Given the description of an element on the screen output the (x, y) to click on. 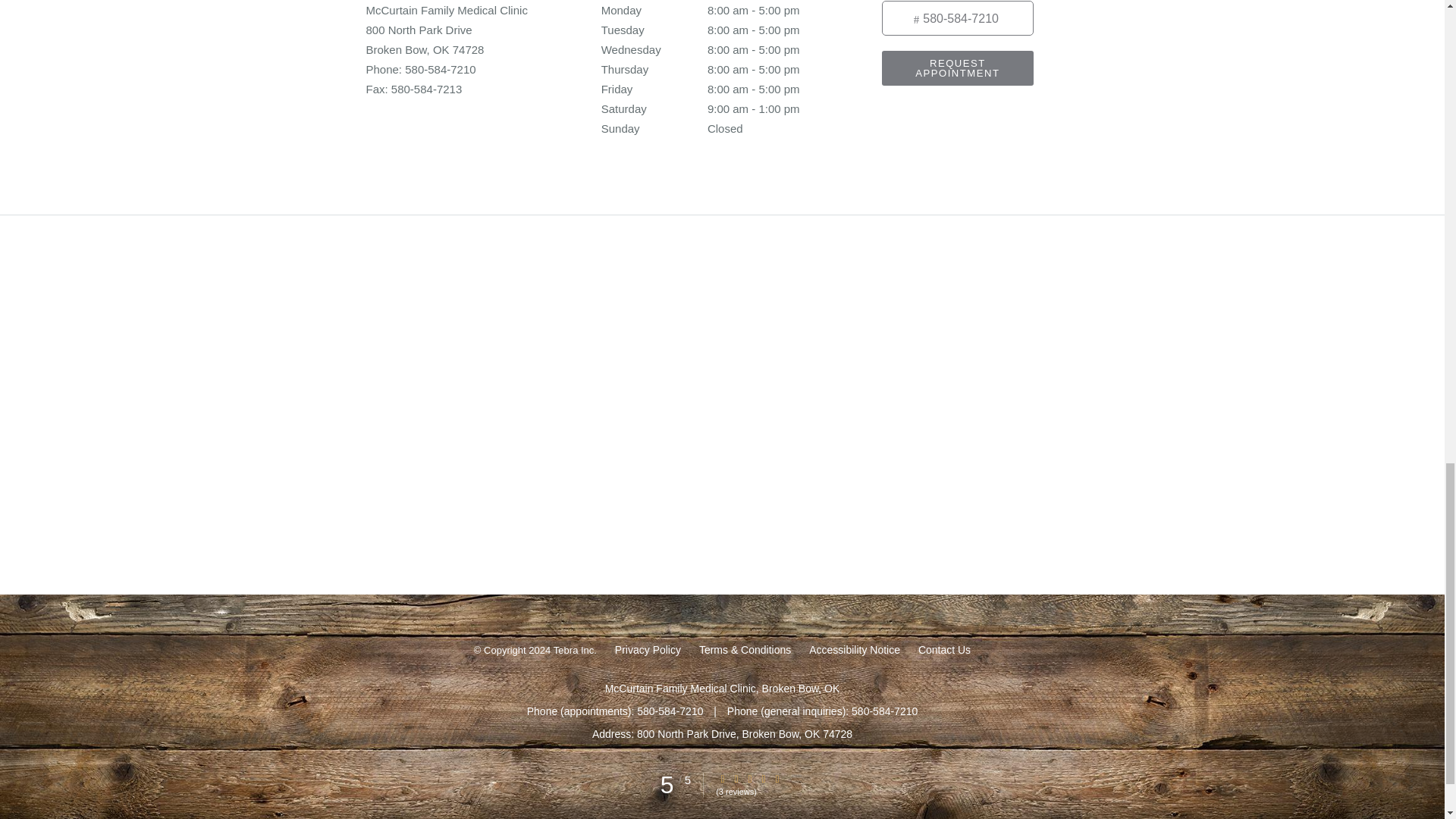
Star Rating (722, 778)
Star Rating (749, 778)
Star Rating (735, 778)
Star Rating (777, 778)
Star Rating (763, 778)
